Given the description of an element on the screen output the (x, y) to click on. 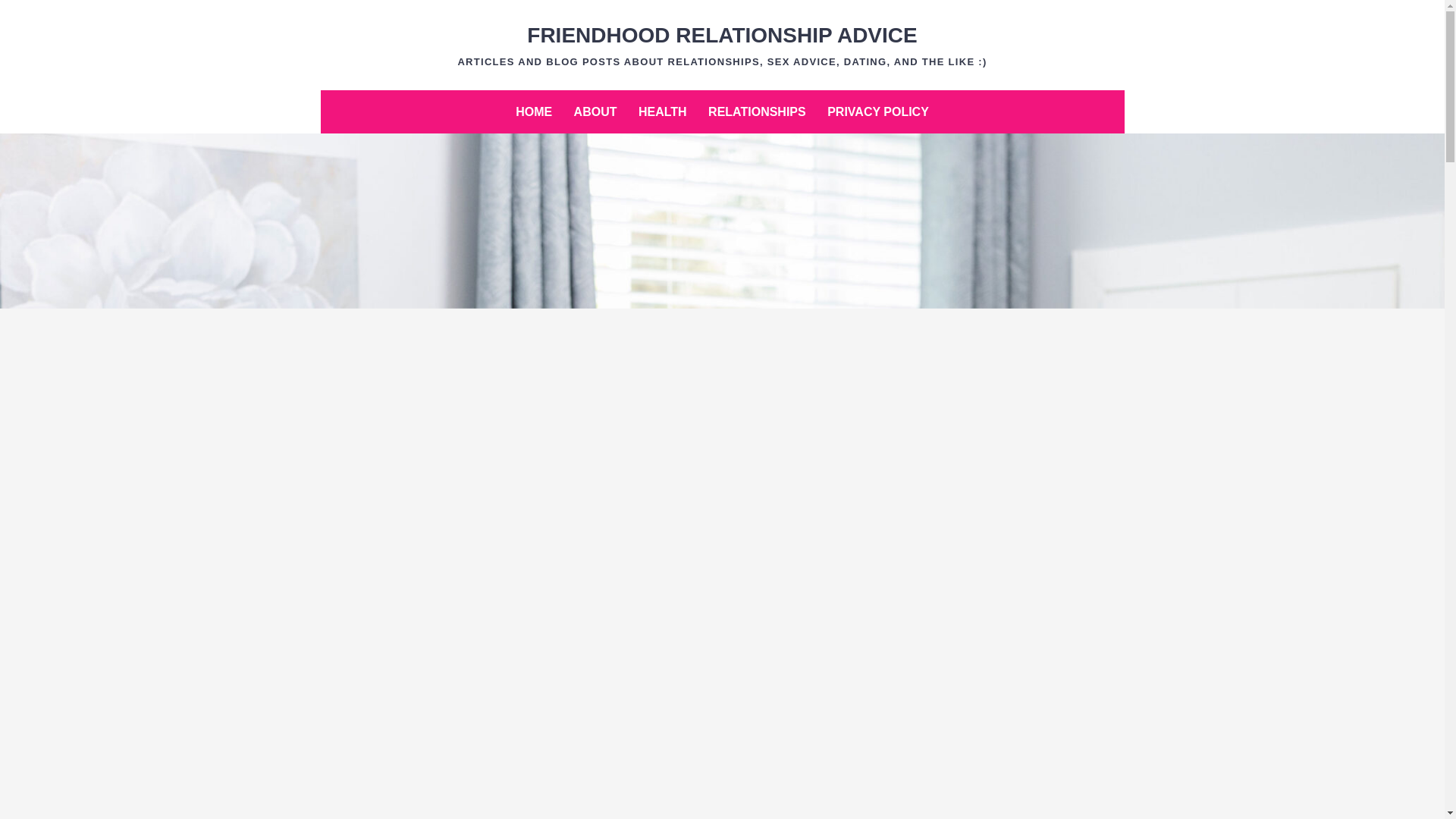
ABOUT (595, 111)
HEALTH (661, 111)
Search (44, 18)
PRIVACY POLICY (877, 111)
RELATIONSHIPS (756, 111)
HOME (533, 111)
FRIENDHOOD RELATIONSHIP ADVICE (722, 34)
